Given the description of an element on the screen output the (x, y) to click on. 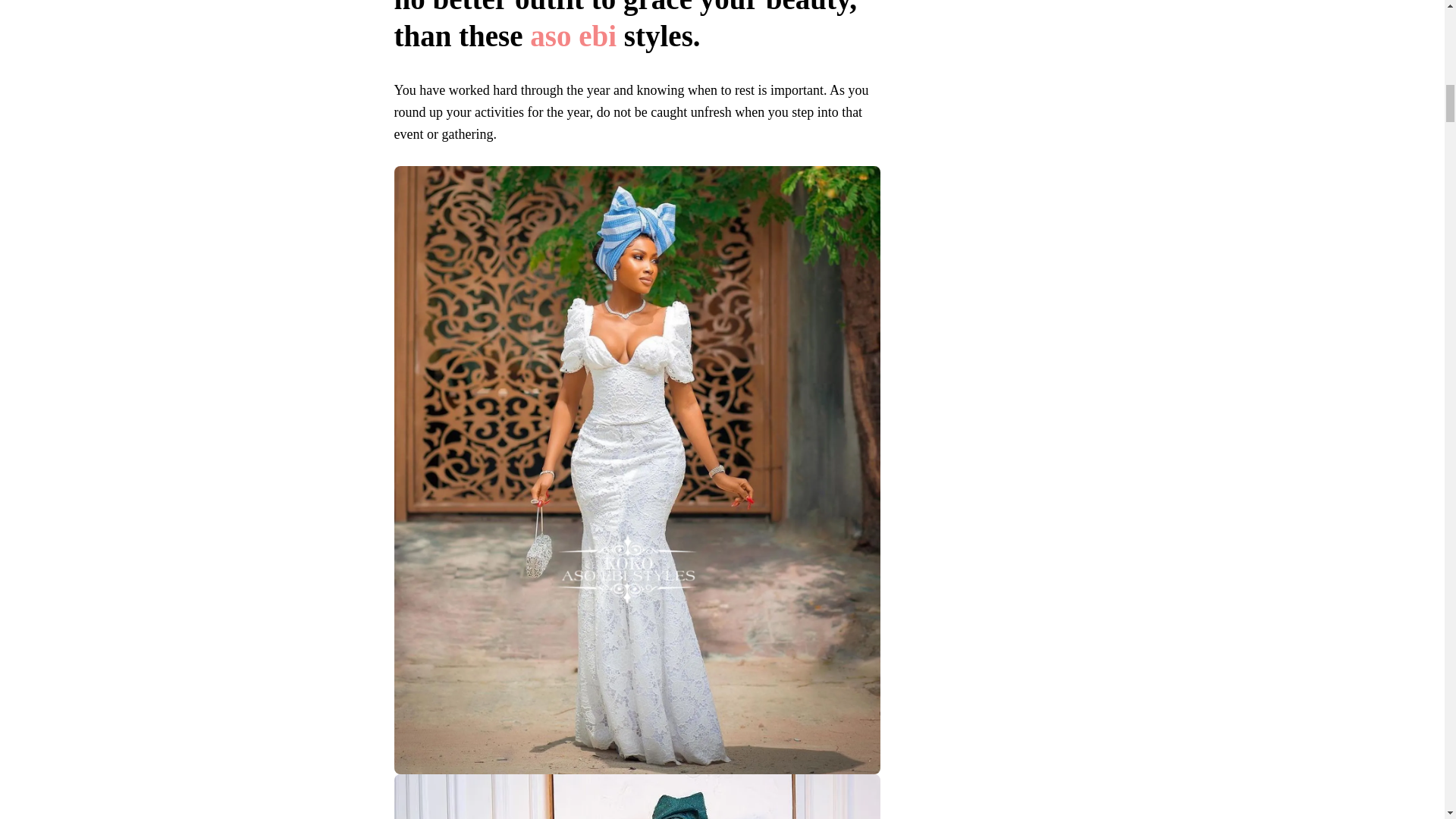
Look Forever Young In These Evergreen Aso Ebi Styles 3 (637, 796)
aso ebi (572, 35)
